Given the description of an element on the screen output the (x, y) to click on. 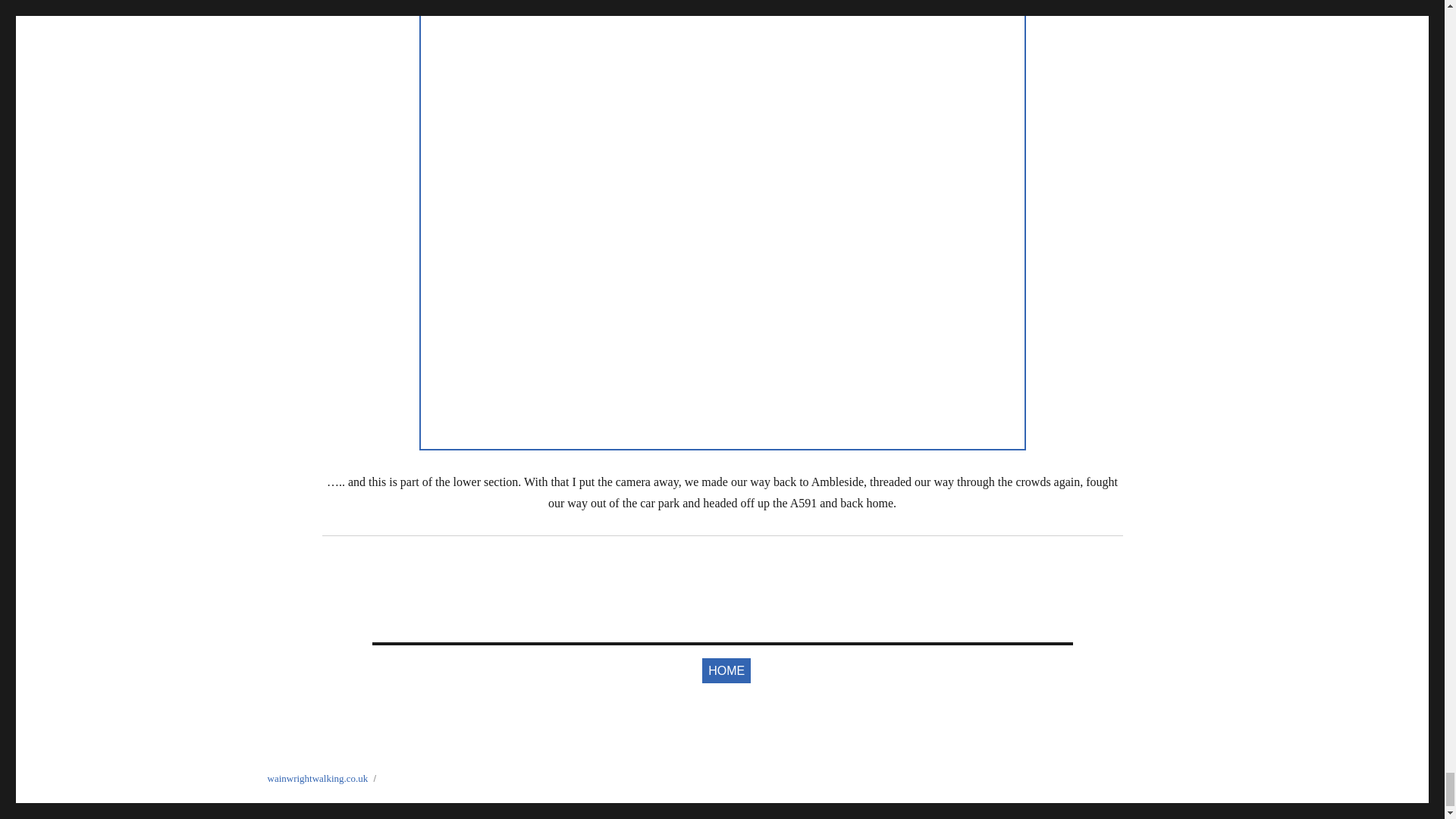
HOME (726, 670)
